Given the description of an element on the screen output the (x, y) to click on. 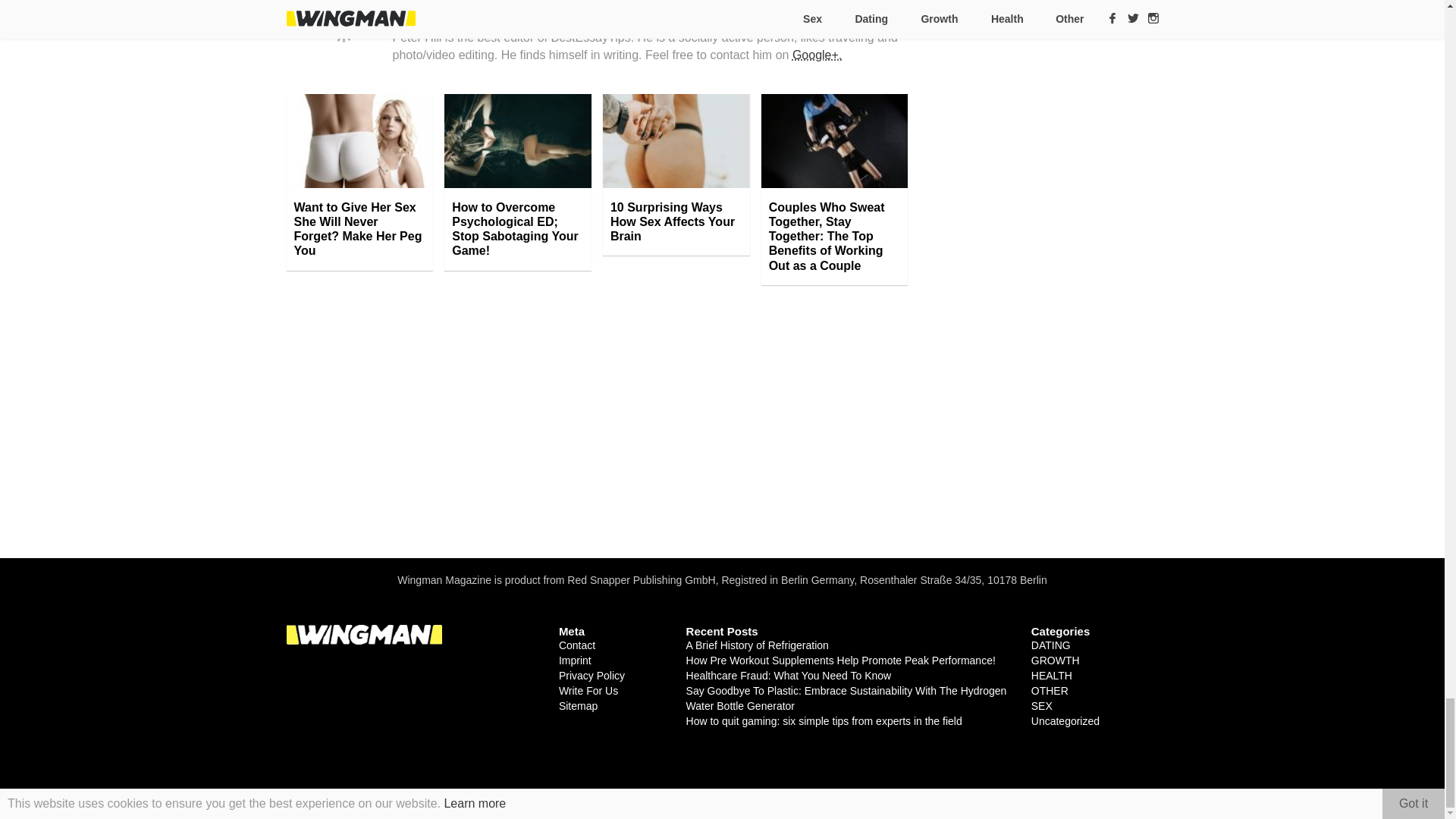
How to Overcome Psychological ED; Stop Sabotaging Your Game! (517, 229)
10 Surprising Ways How Sex Affects Your Brain (675, 222)
Want to Give Her Sex She Will Never Forget? Make Her Peg You (359, 229)
